Given the description of an element on the screen output the (x, y) to click on. 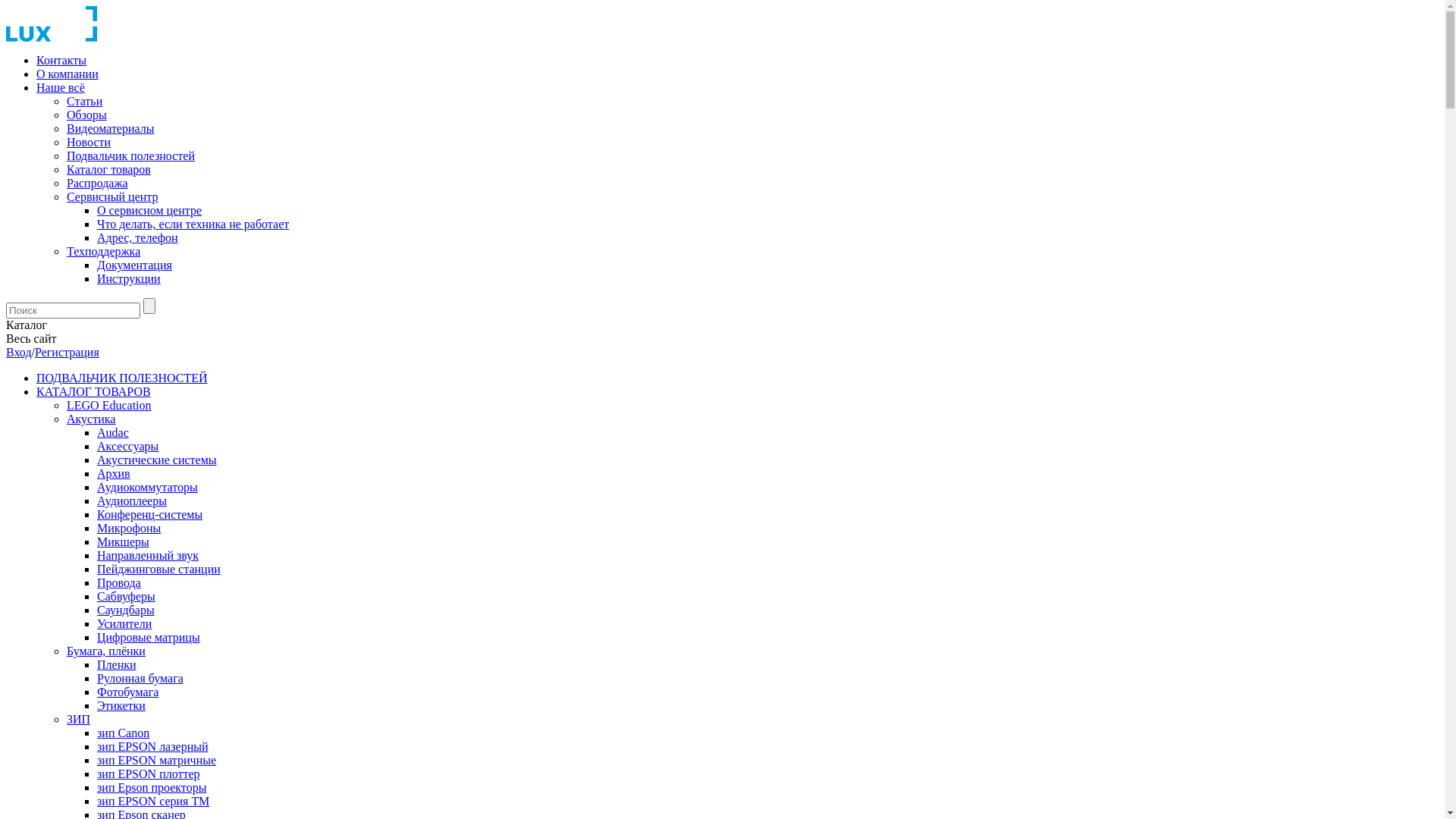
LEGO Education Element type: text (108, 404)
Audac Element type: text (112, 432)
